Given the description of an element on the screen output the (x, y) to click on. 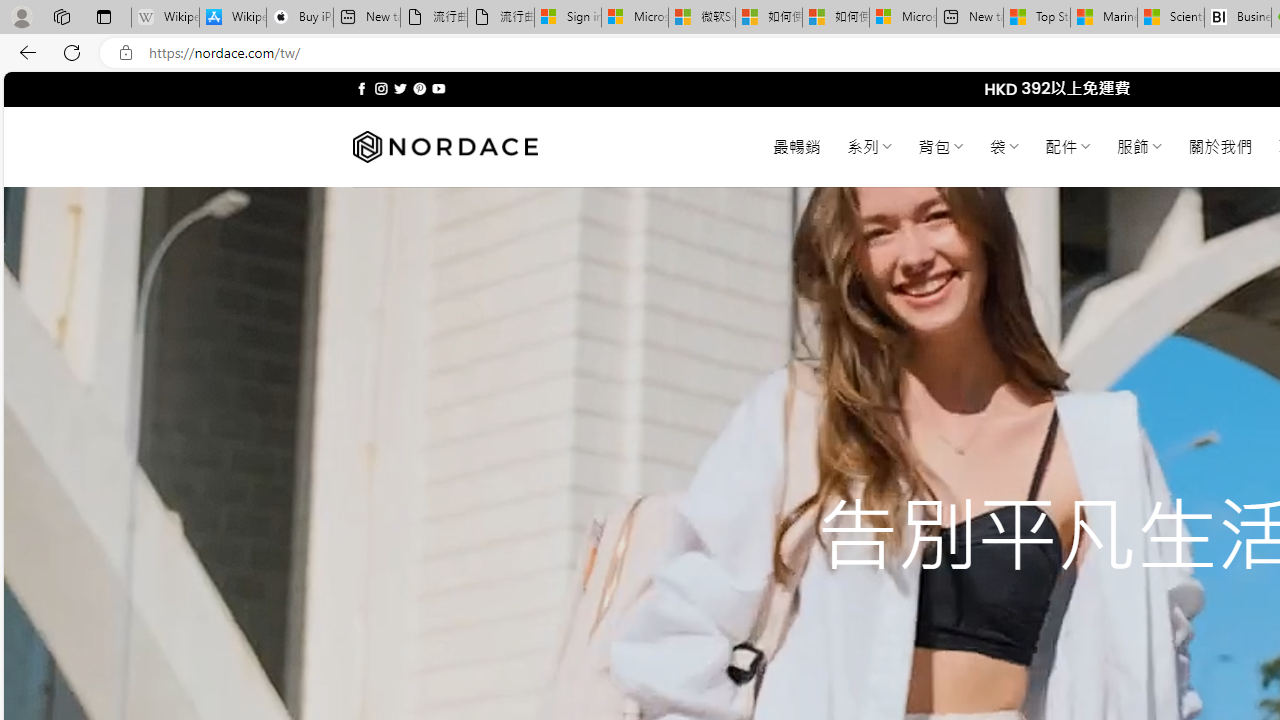
Follow on Pinterest (419, 88)
Marine life - MSN (1103, 17)
Microsoft account | Account Checkup (902, 17)
Follow on Facebook (361, 88)
